Given the description of an element on the screen output the (x, y) to click on. 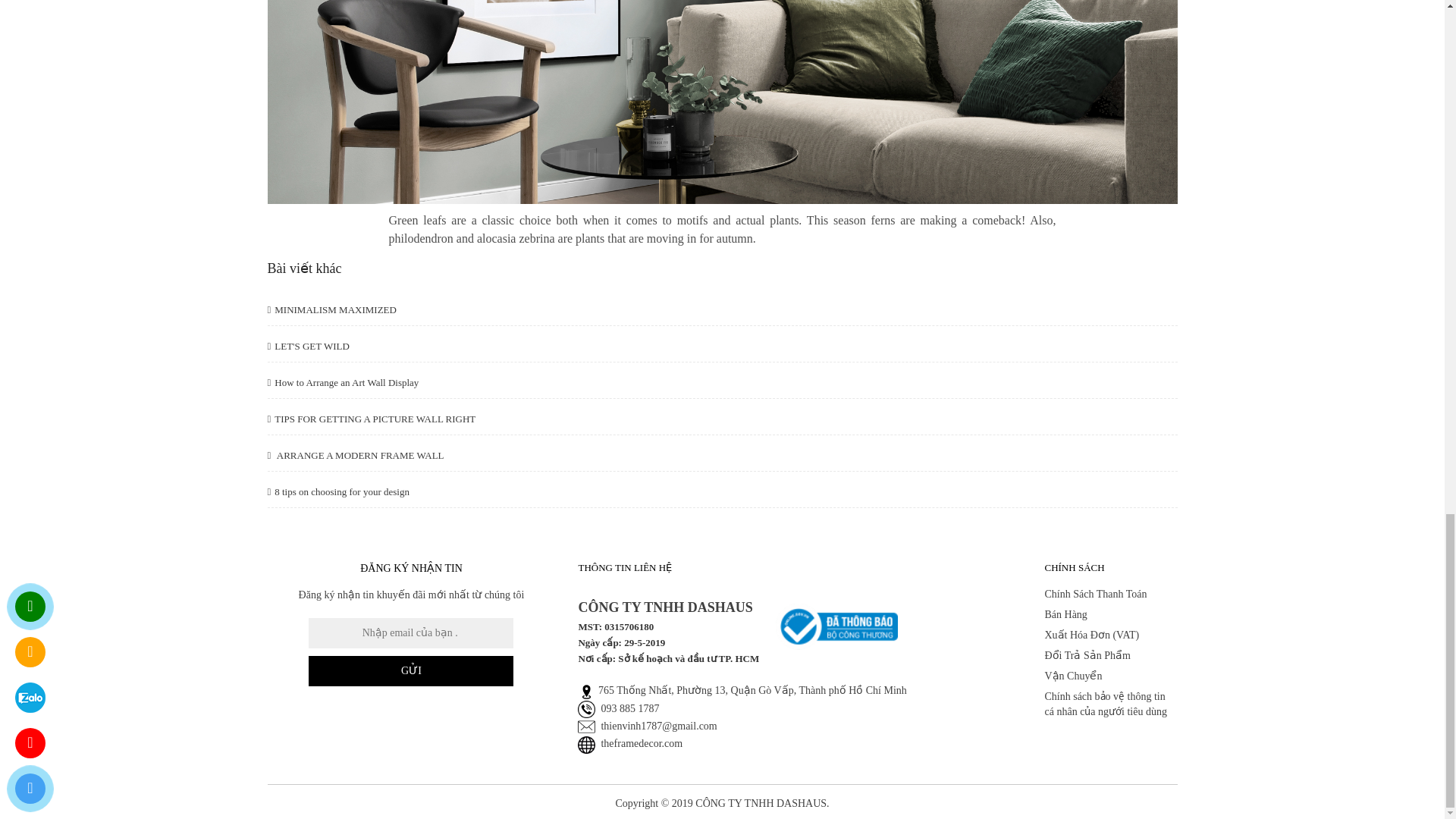
How to Arrange an Art Wall Display (342, 382)
LET'S GET WILD (307, 346)
MINIMALISM MAXIMIZED (331, 309)
 ARRANGE A MODERN FRAME WALL (355, 455)
8 tips on choosing for your design (337, 491)
TIPS FOR GETTING A PICTURE WALL RIGHT (371, 419)
